Given the description of an element on the screen output the (x, y) to click on. 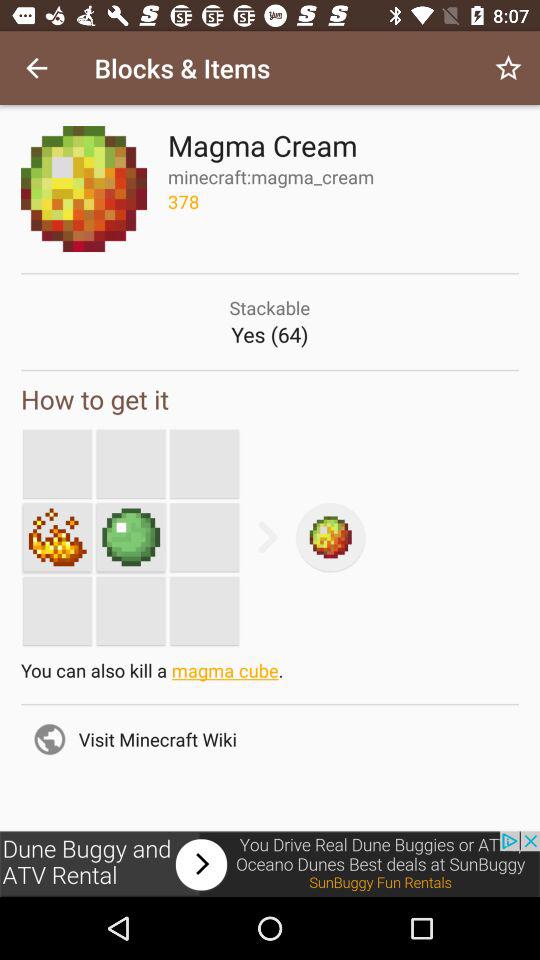
visit advertisement page (270, 864)
